Given the description of an element on the screen output the (x, y) to click on. 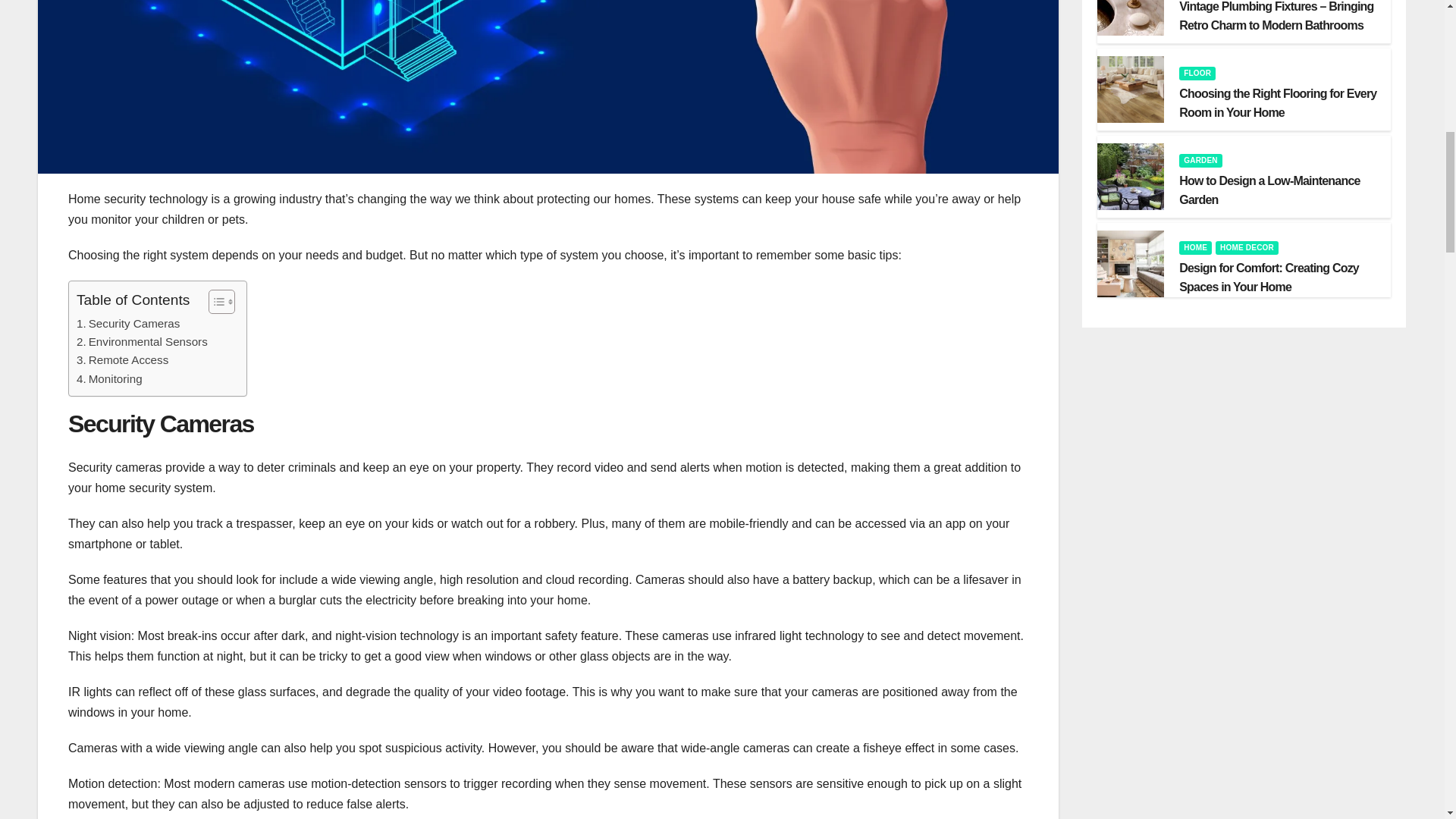
Monitoring (109, 379)
Security Cameras (128, 323)
Environmental Sensors (142, 341)
Remote Access (122, 360)
Security Cameras (128, 323)
Remote Access (122, 360)
Environmental Sensors (142, 341)
Monitoring (109, 379)
